Given the description of an element on the screen output the (x, y) to click on. 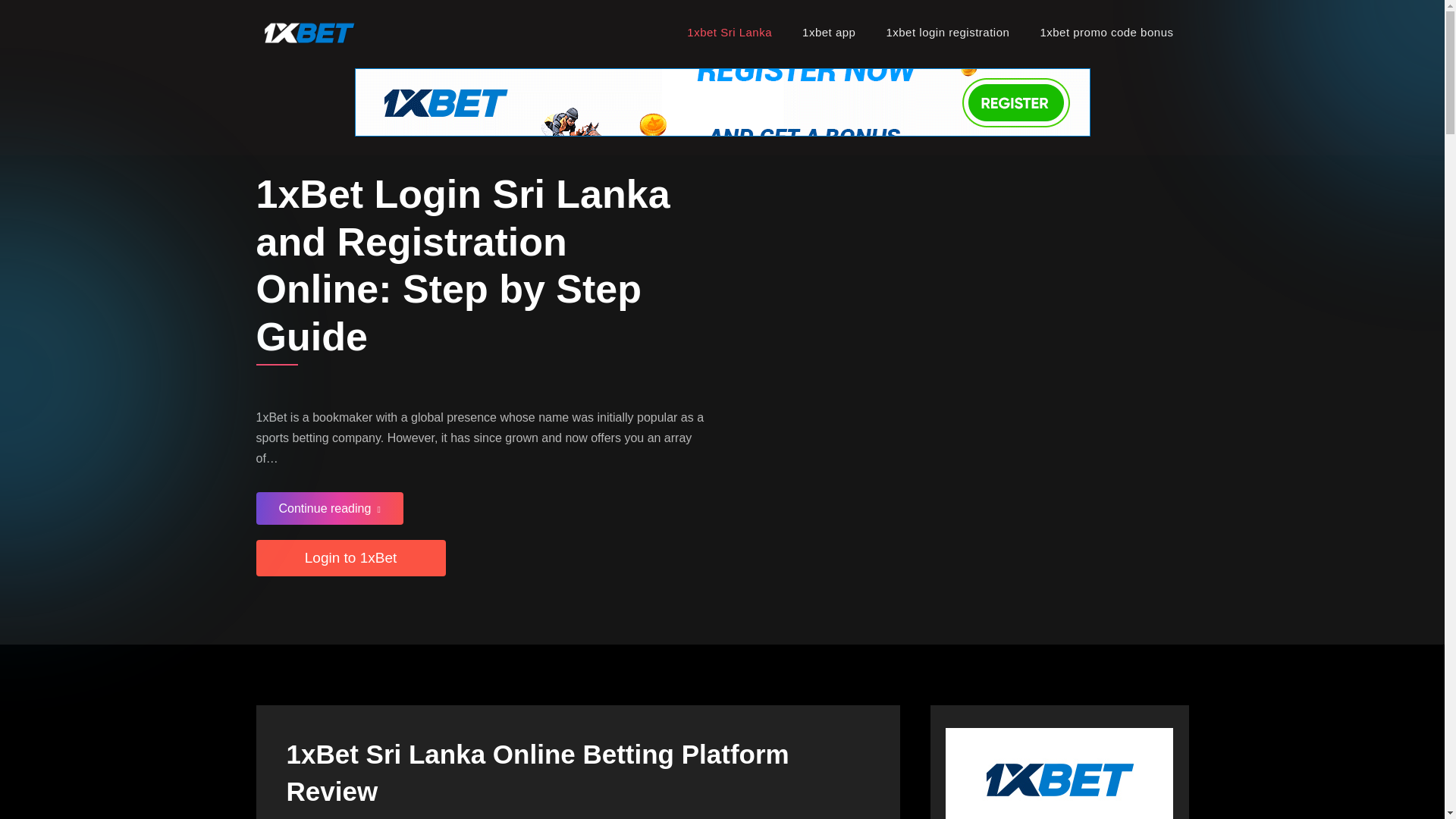
1xbet promo code bonus (1106, 31)
Login to 1xBet (350, 557)
1xbet-lk-online.com (445, 40)
1xbet app (828, 31)
1xbet Sri Lanka (729, 31)
1xbet login registration (947, 31)
